Given the description of an element on the screen output the (x, y) to click on. 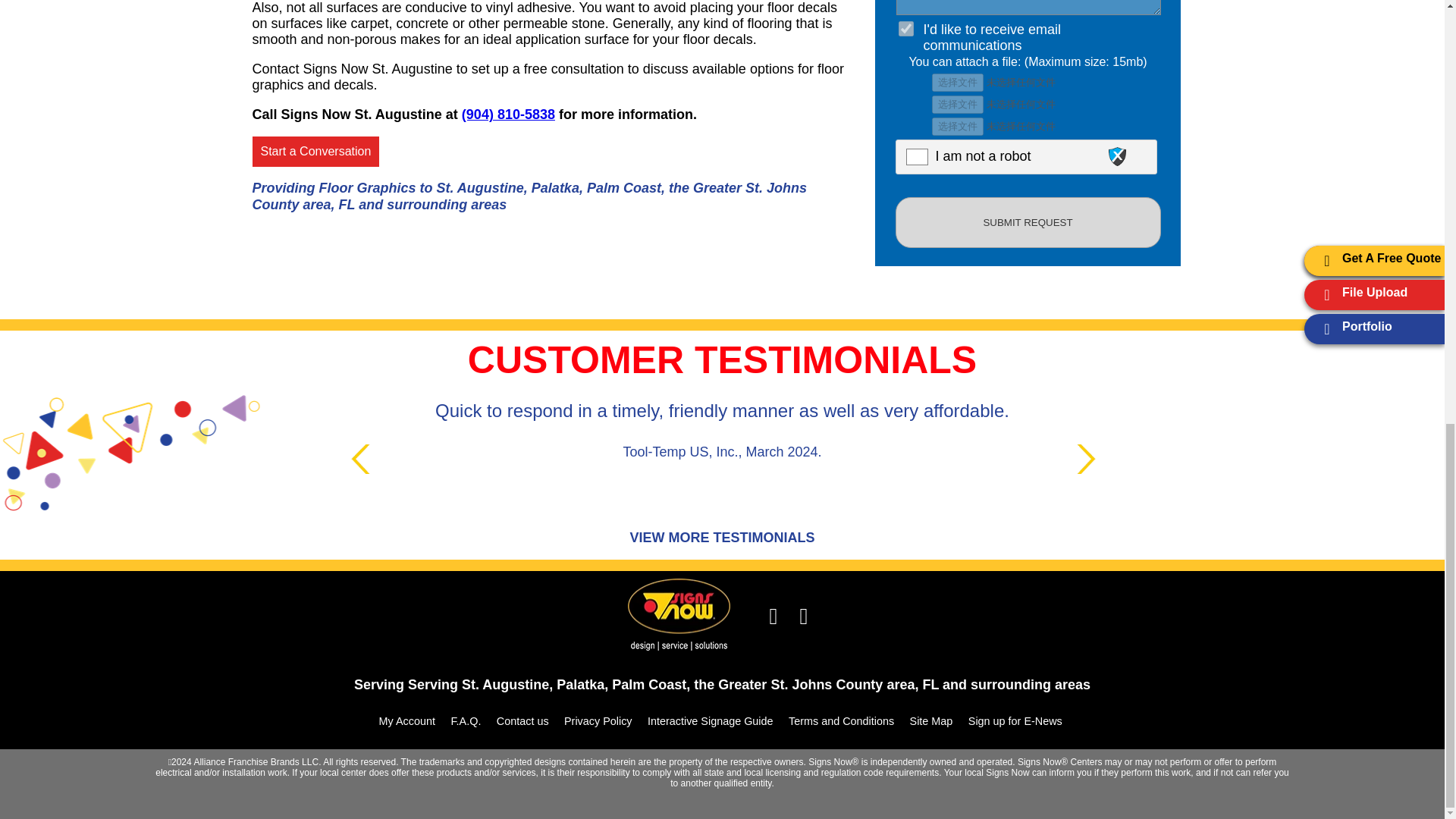
Page Left (363, 459)
1 (905, 28)
VIEW MORE TESTIMONIALS (720, 537)
Page Right (1090, 459)
Submit Request (1027, 222)
Start a Conversation (314, 151)
